Given the description of an element on the screen output the (x, y) to click on. 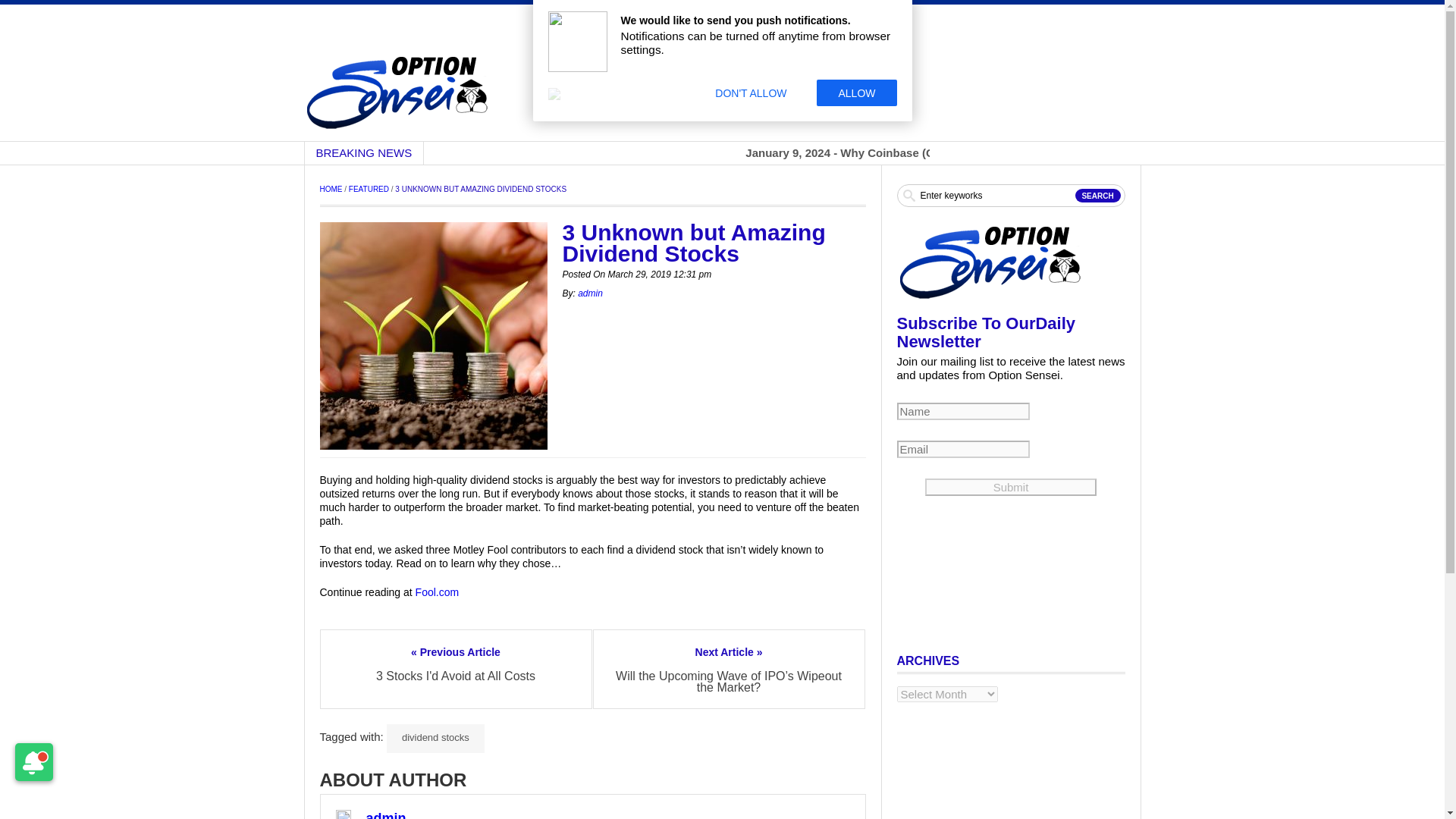
Featured (368, 189)
3 Stocks I'd Avoid at All Costs (454, 675)
Fool.com (437, 592)
Submit (1010, 487)
Search (1098, 195)
FEATURED (368, 189)
admin (590, 293)
Search (1098, 195)
admin (385, 815)
Posts by admin (590, 293)
Enter keyworks (1010, 195)
DON'T ALLOW (751, 92)
Advertisement (795, 57)
Fool.com (437, 592)
HOME (331, 189)
